Given the description of an element on the screen output the (x, y) to click on. 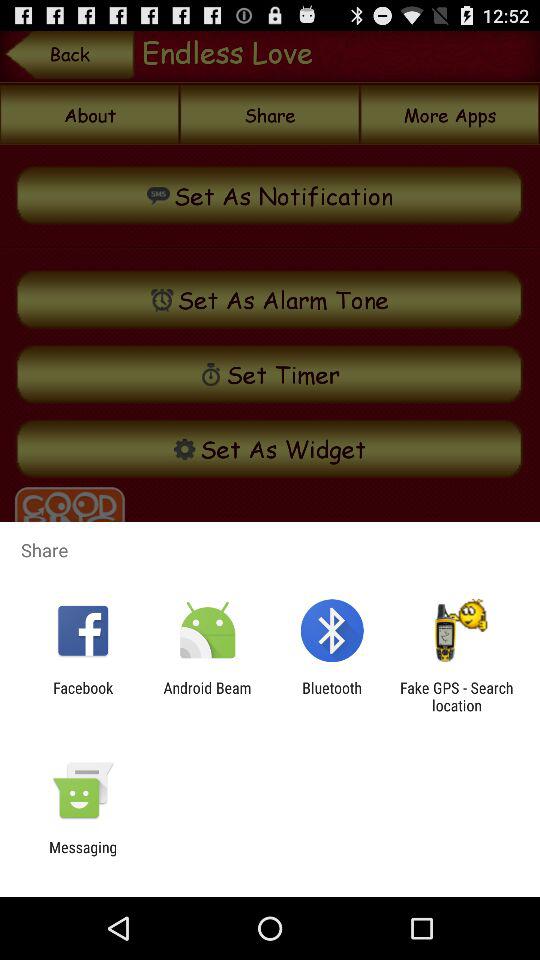
turn off the icon next to the facebook icon (207, 696)
